Given the description of an element on the screen output the (x, y) to click on. 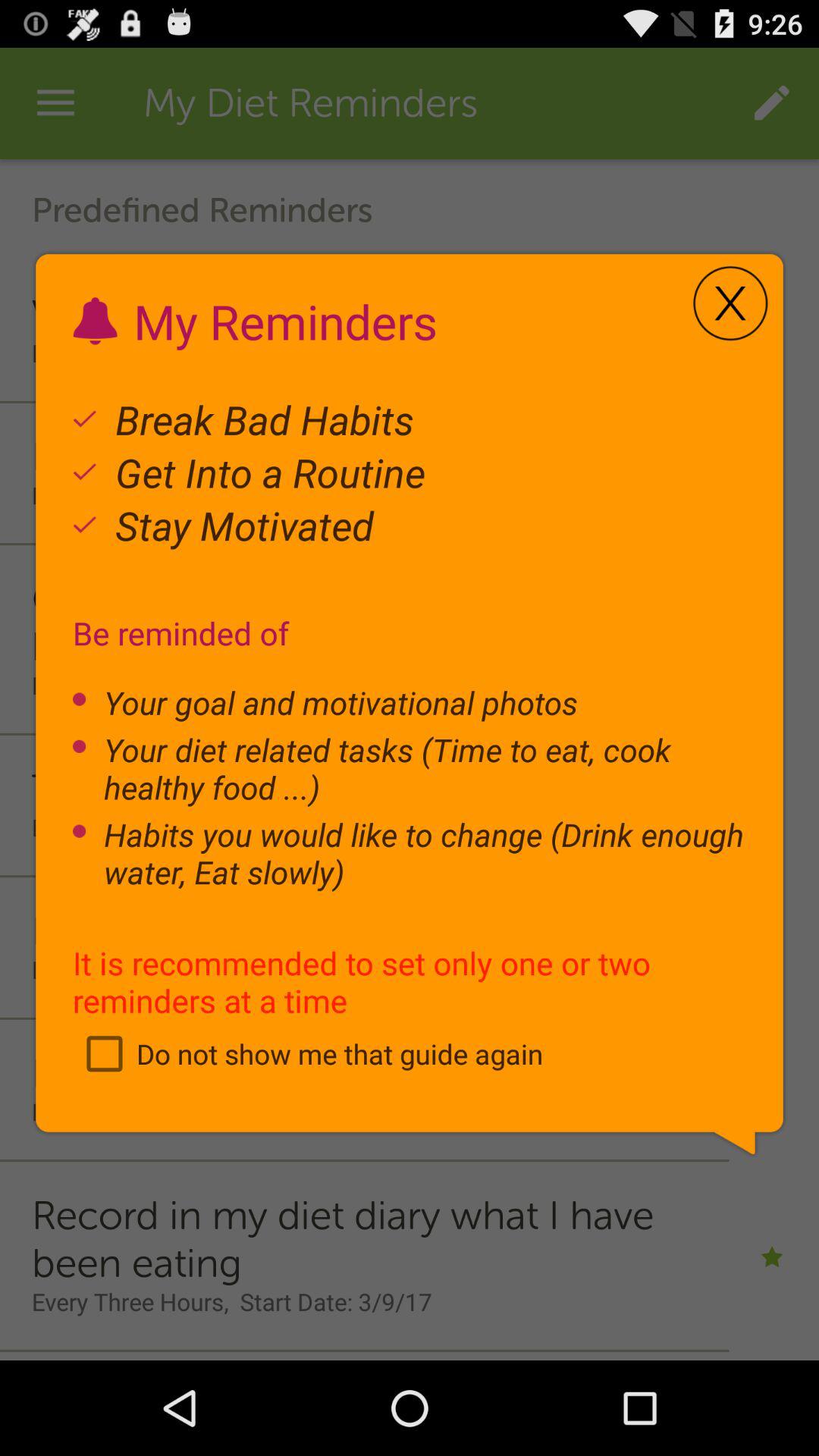
select do not show item (307, 1053)
